Given the description of an element on the screen output the (x, y) to click on. 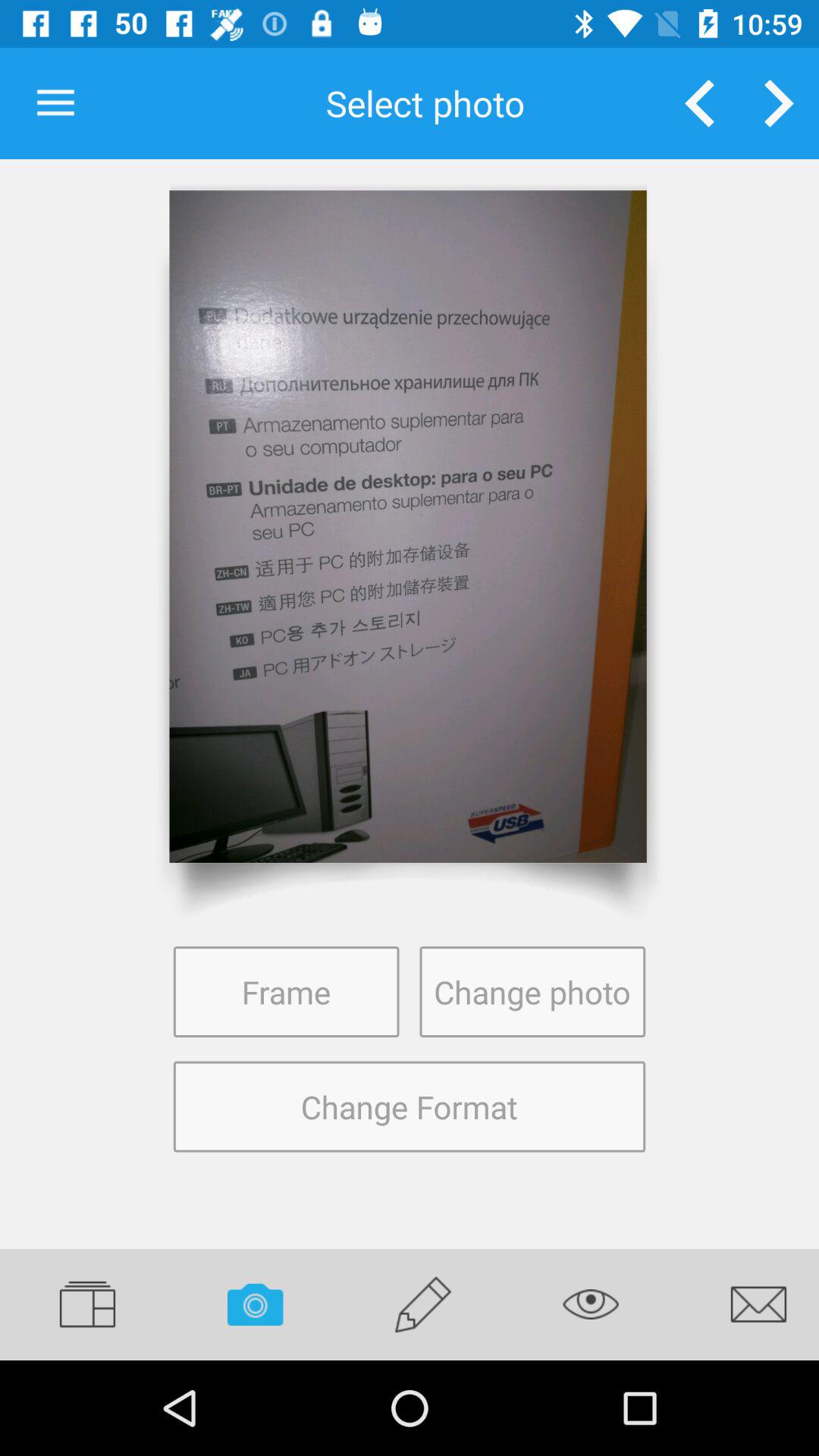
select image (407, 526)
